Given the description of an element on the screen output the (x, y) to click on. 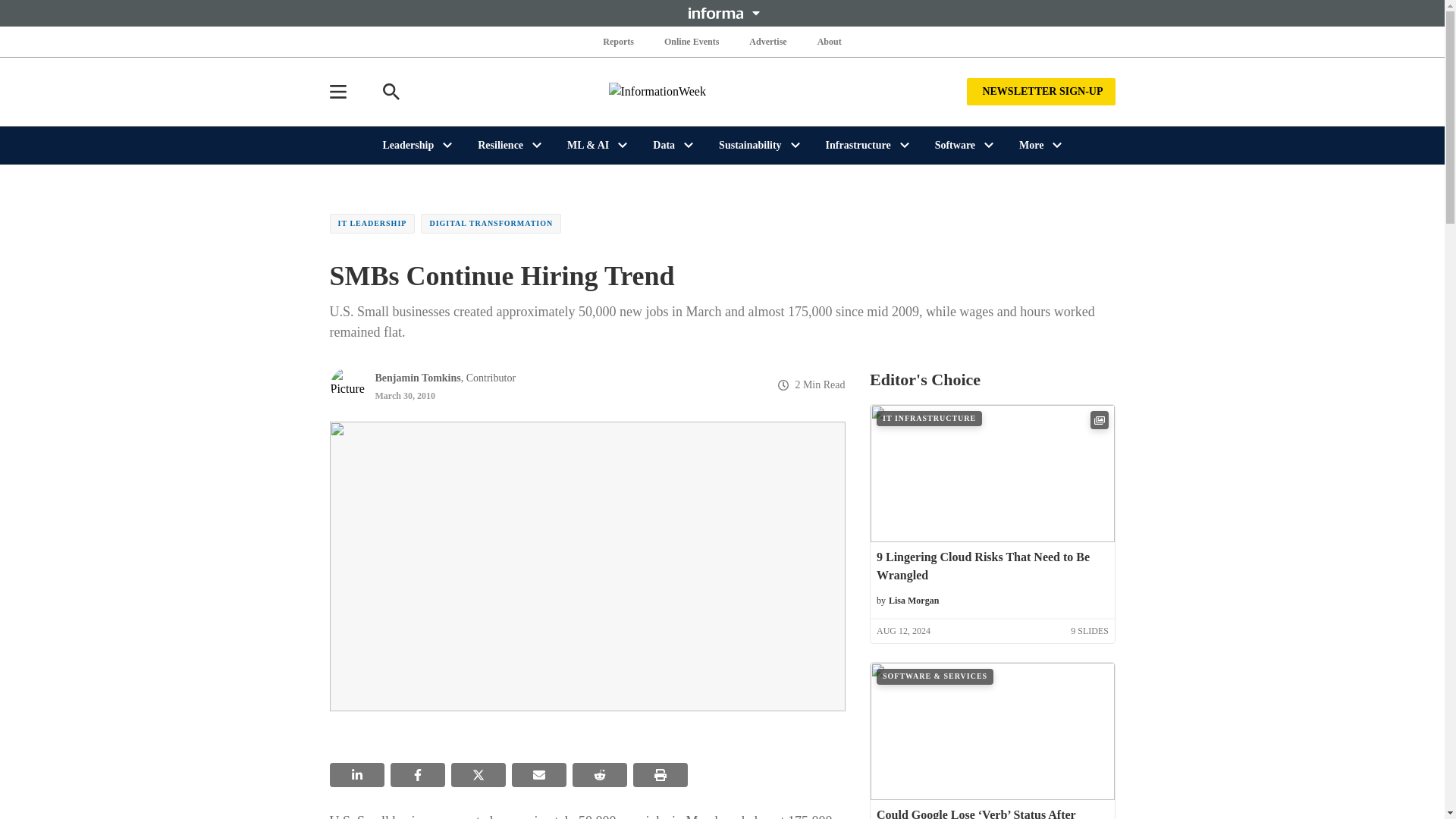
Online Events (691, 41)
Advertise (767, 41)
Reports (618, 41)
InformationWeek (721, 91)
NEWSLETTER SIGN-UP (1040, 90)
About (828, 41)
